Given the description of an element on the screen output the (x, y) to click on. 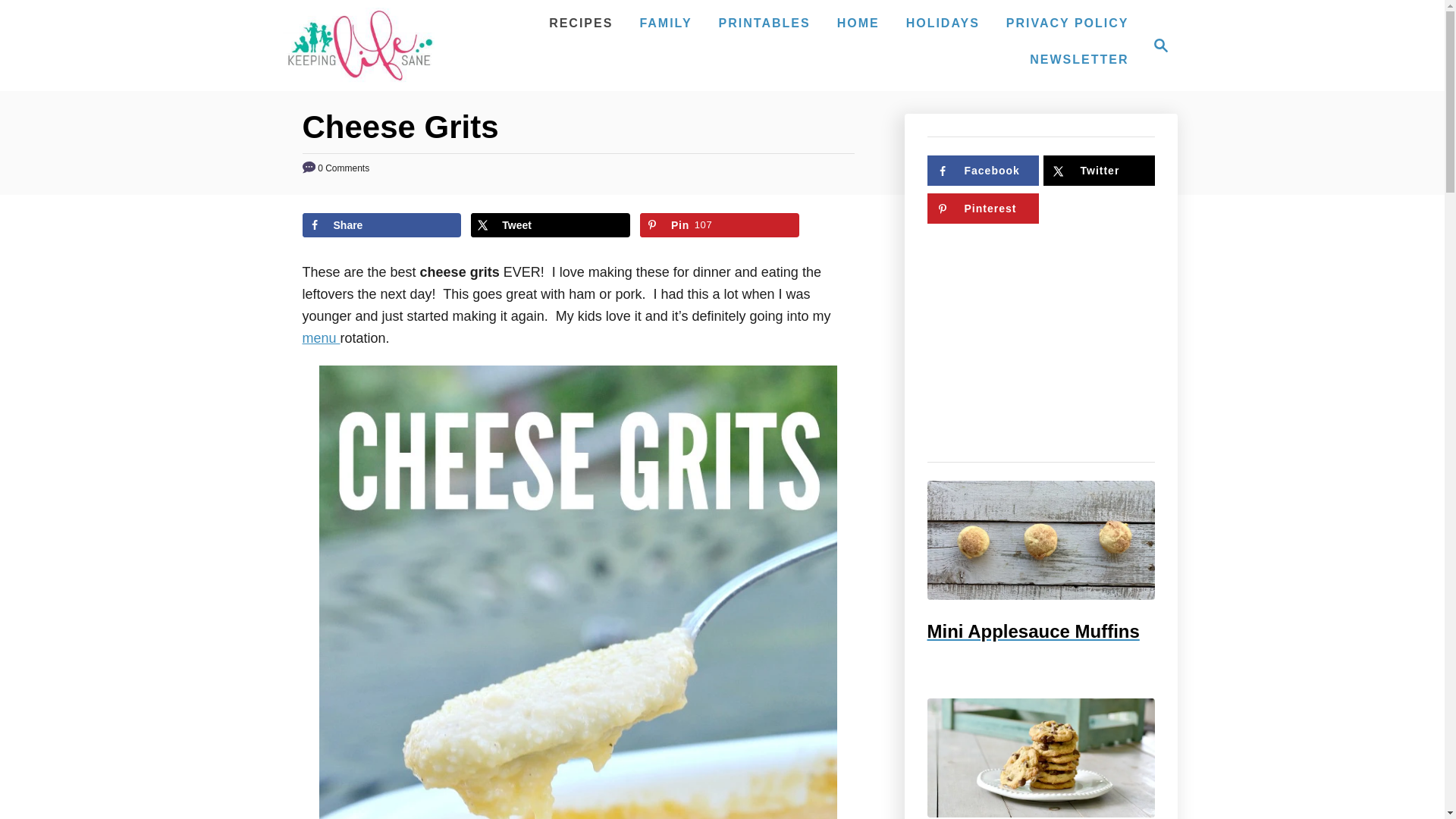
HOLIDAYS (942, 23)
NEWSLETTER (1078, 59)
RECIPES (580, 23)
Share on Facebook (381, 224)
Save to Pinterest (719, 224)
FAMILY (719, 224)
Mini Applesauce Muffins (664, 23)
Follow on Pinterest (1040, 539)
HOME (982, 208)
